Given the description of an element on the screen output the (x, y) to click on. 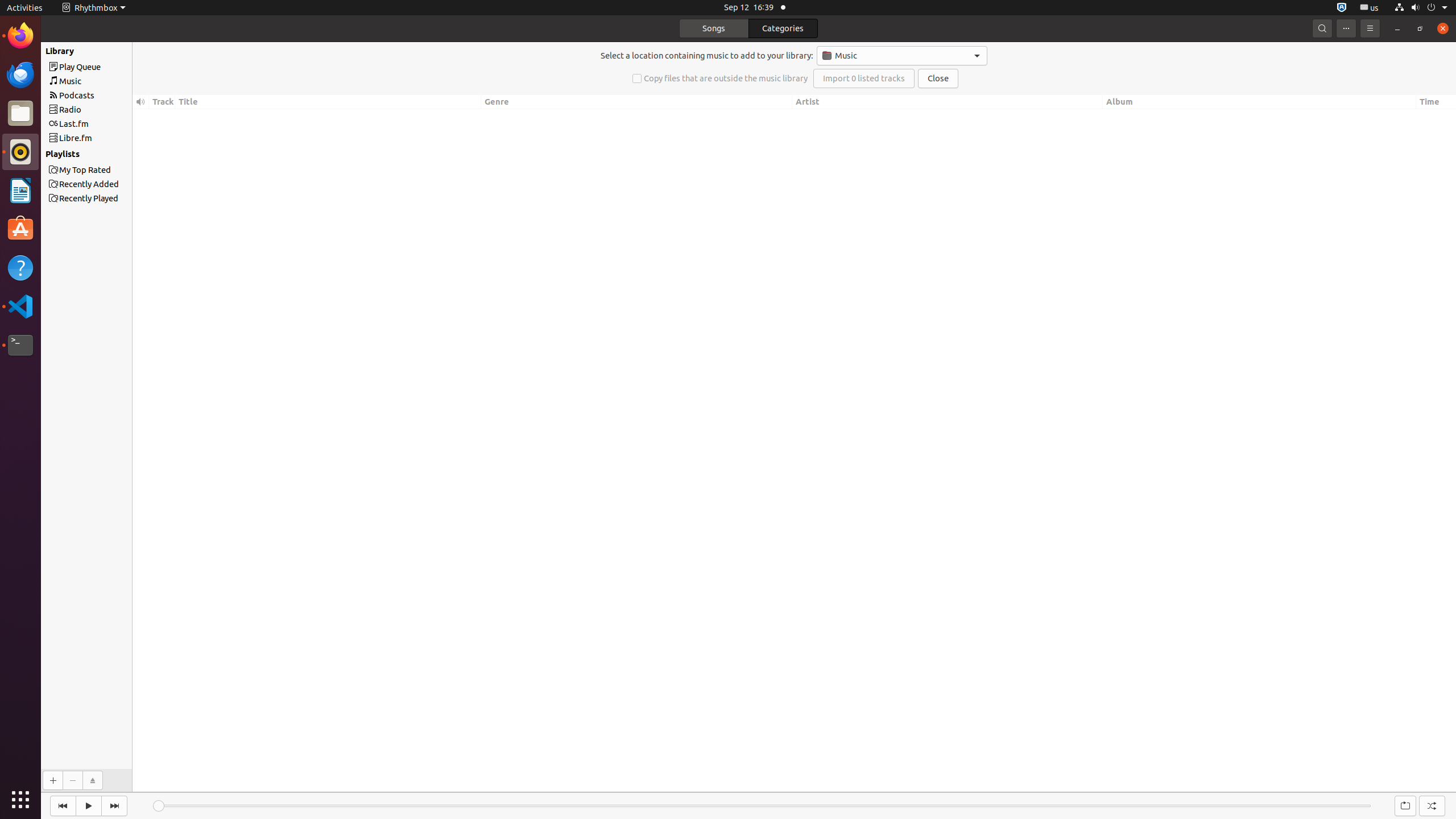
Time Element type: table-column-header (1436, 101)
Recently Played Element type: table-cell (53, 50)
Artist Element type: table-column-header (947, 101)
Play Queue Element type: table-cell (106, 66)
Remove Element type: push-button (72, 779)
